Given the description of an element on the screen output the (x, y) to click on. 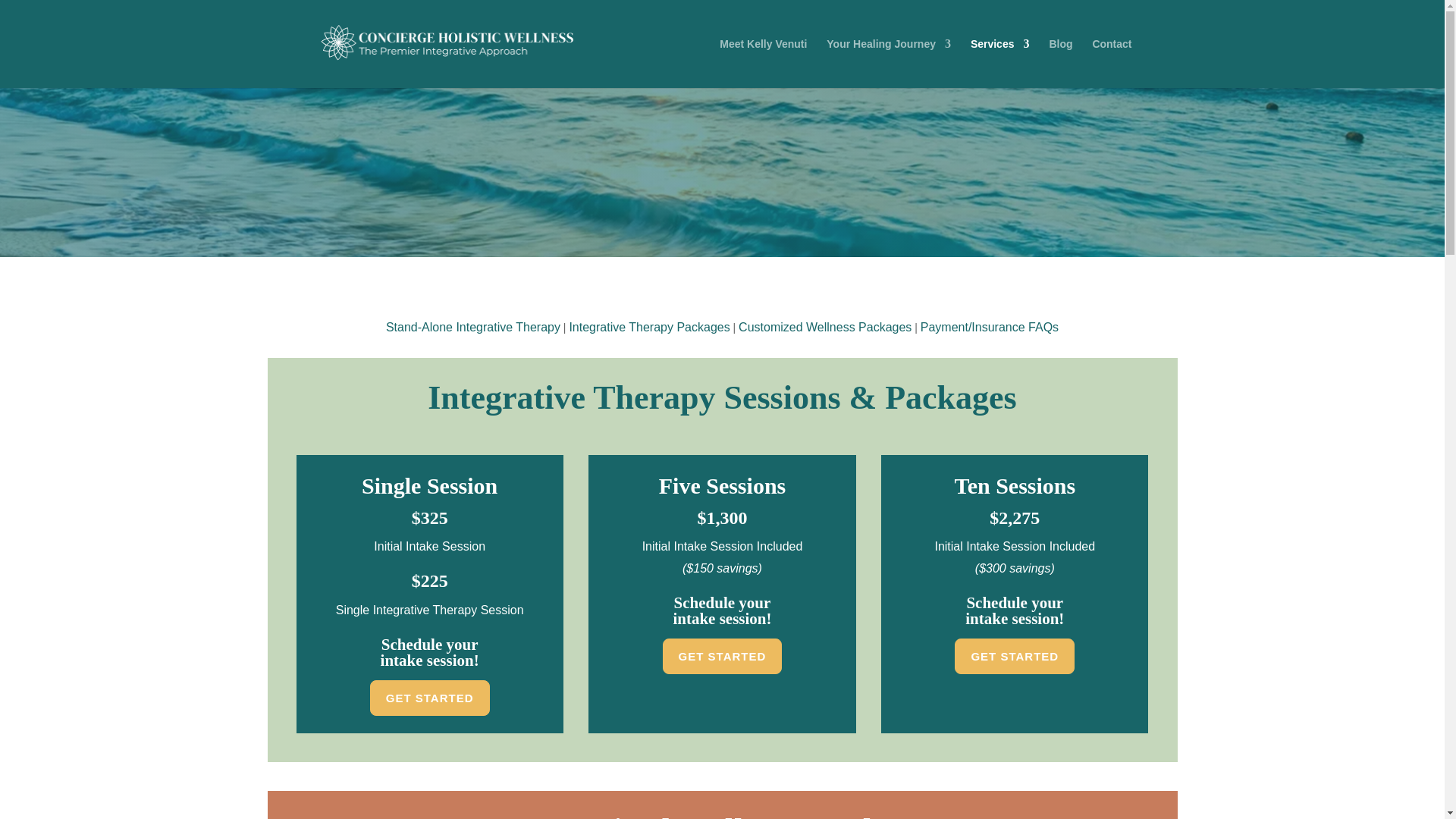
Your Healing Journey (888, 62)
GET STARTED (429, 698)
Stand-Alone Integrative Therapy (472, 327)
Integrative Therapy Packages (649, 327)
GET STARTED (1014, 656)
Customized Wellness Packages (824, 327)
Services (1000, 62)
Meet Kelly Venuti (762, 62)
GET STARTED (722, 656)
